Given the description of an element on the screen output the (x, y) to click on. 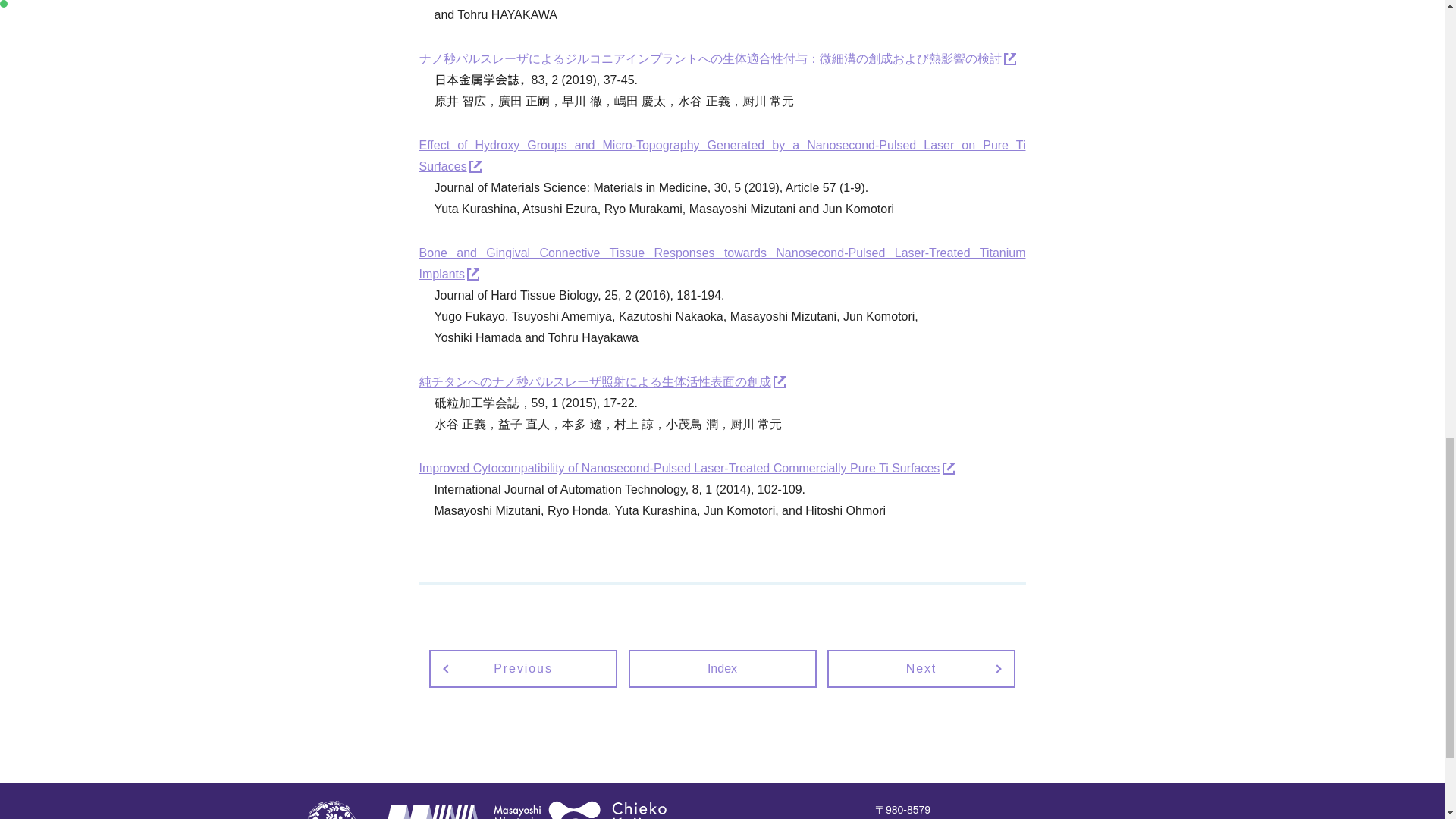
Previous (523, 668)
Index (721, 668)
Next (920, 668)
